Given the description of an element on the screen output the (x, y) to click on. 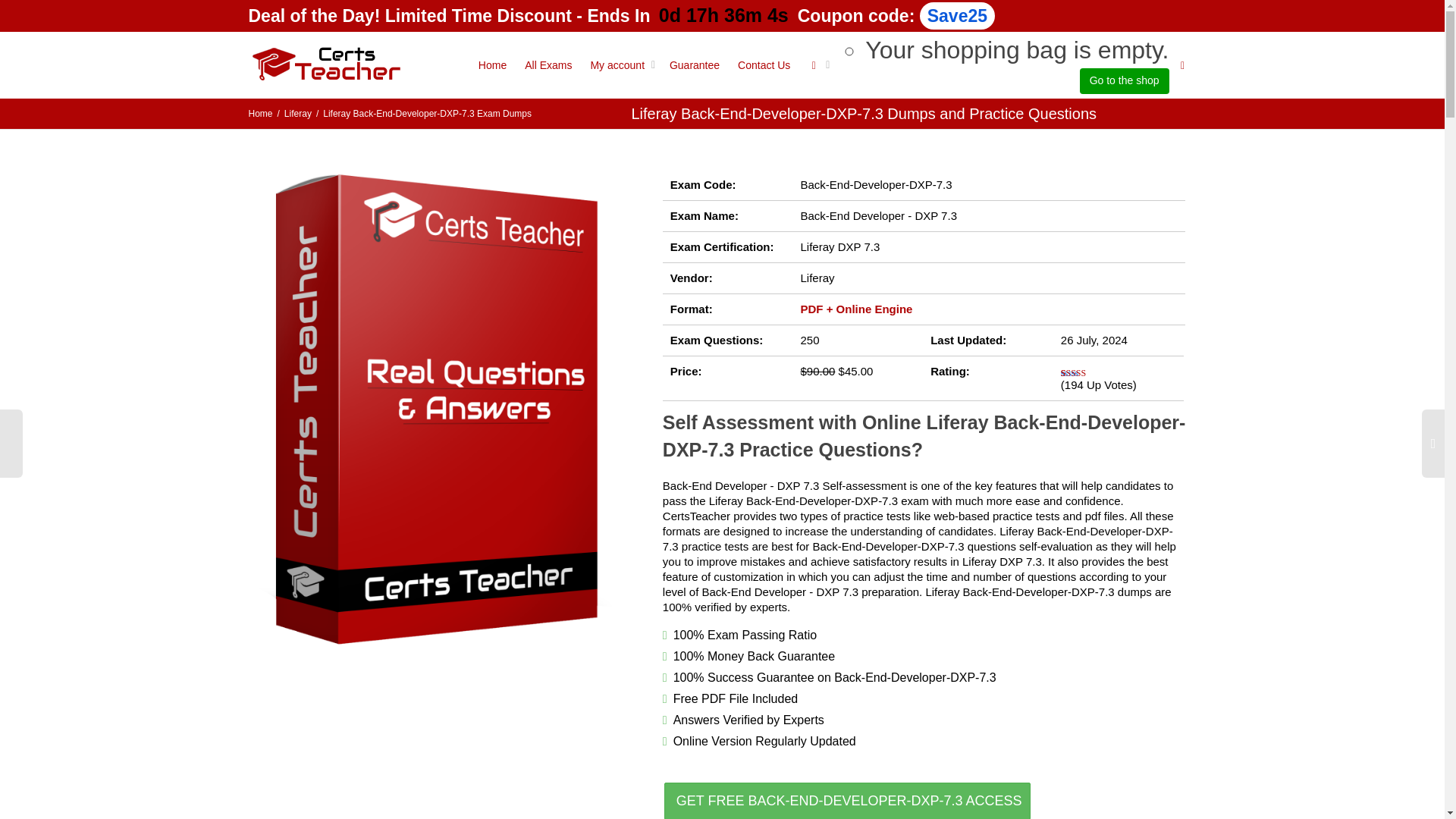
Home (260, 113)
GET FREE BACK-END-DEVELOPER-DXP-7.3 ACCESS (846, 800)
Liferay (297, 113)
Certs Teacher (324, 63)
My account (619, 64)
Go to the shop (1124, 80)
My account (619, 64)
